Given the description of an element on the screen output the (x, y) to click on. 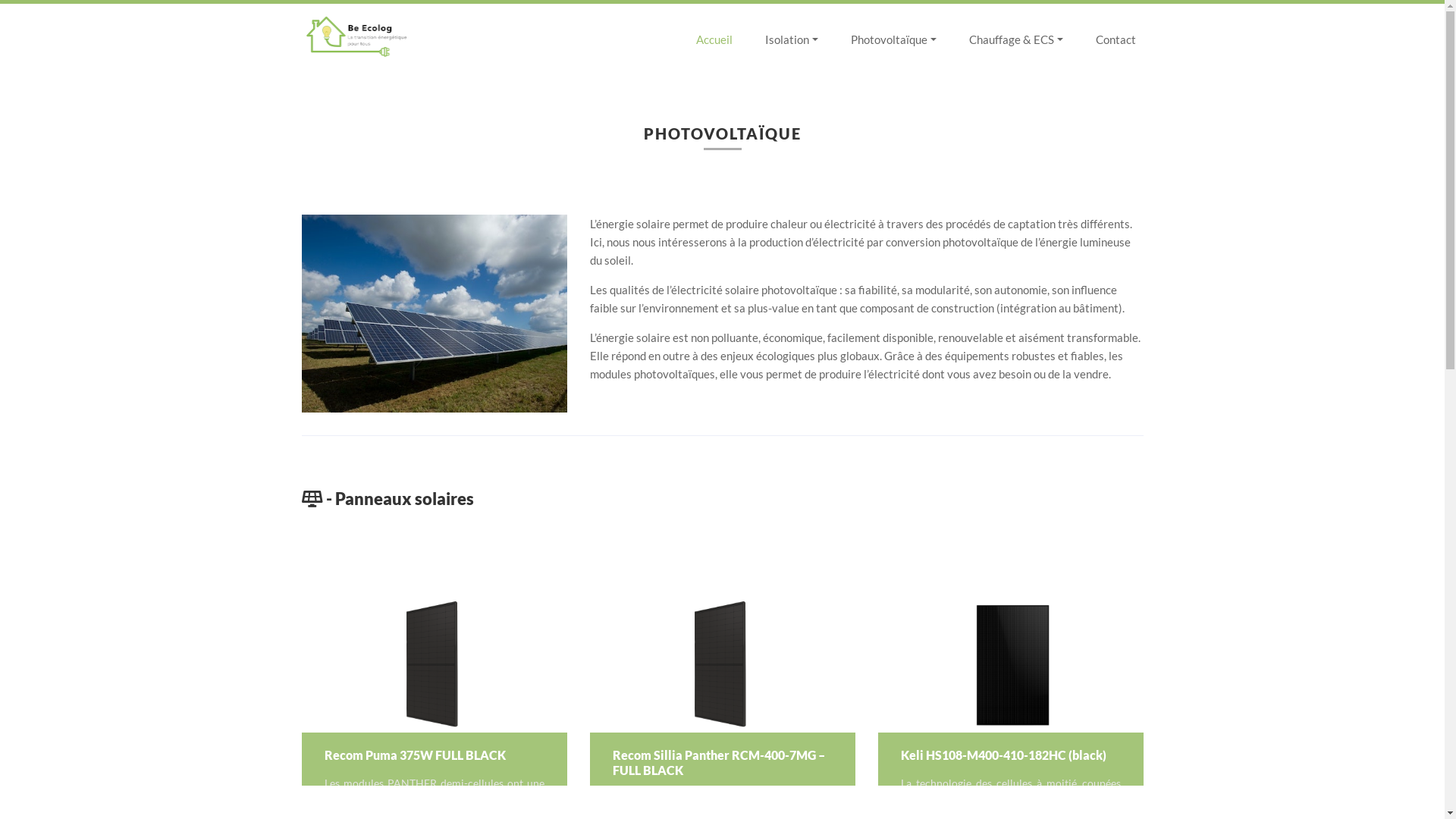
Accueil Element type: text (714, 39)
Chauffage & ECS Element type: text (1015, 39)
Contact Element type: text (1114, 39)
Isolation Element type: text (791, 39)
